Given the description of an element on the screen output the (x, y) to click on. 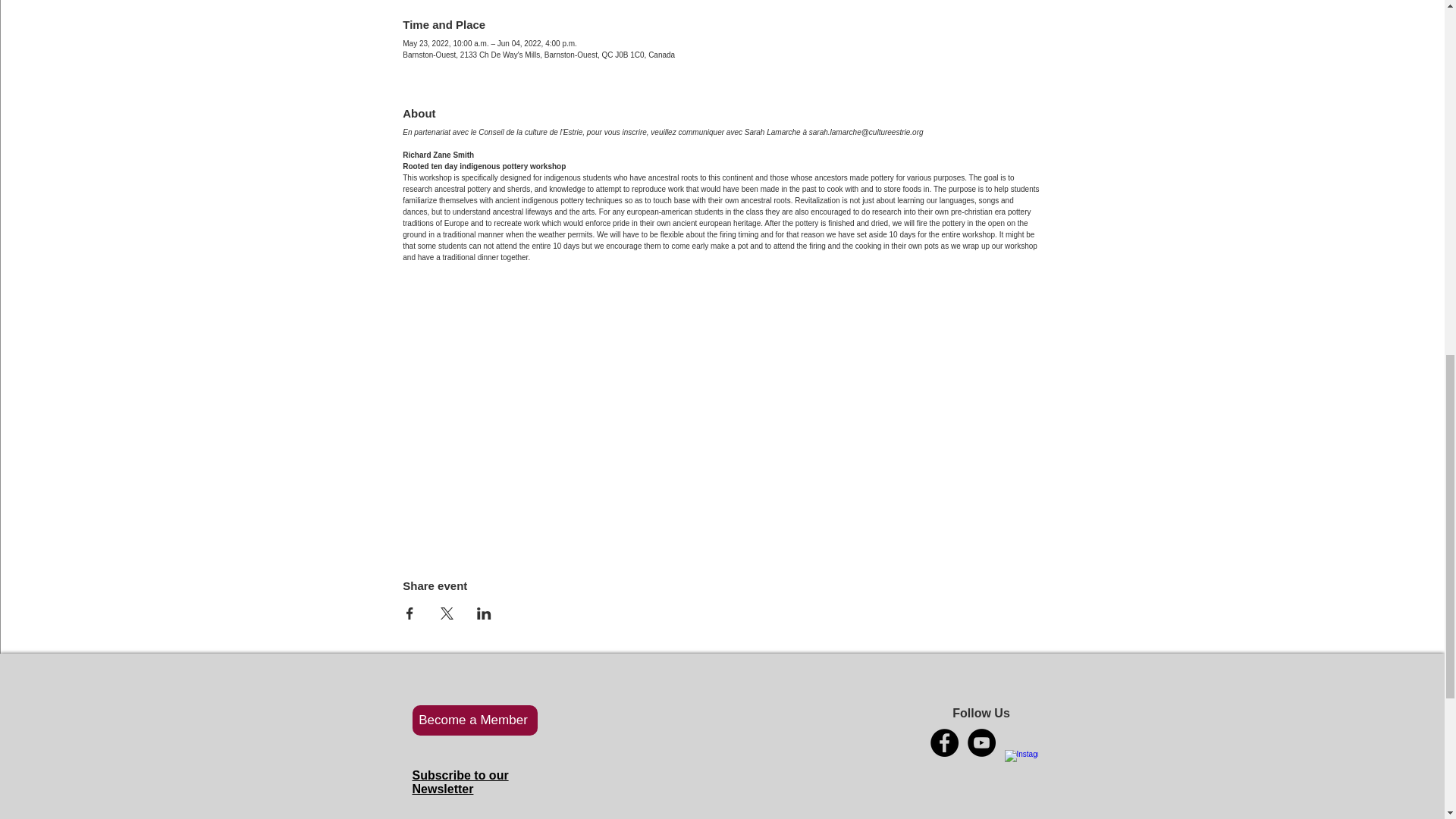
Become a Member (474, 720)
Subscribe to our Newsletter (460, 782)
